Given the description of an element on the screen output the (x, y) to click on. 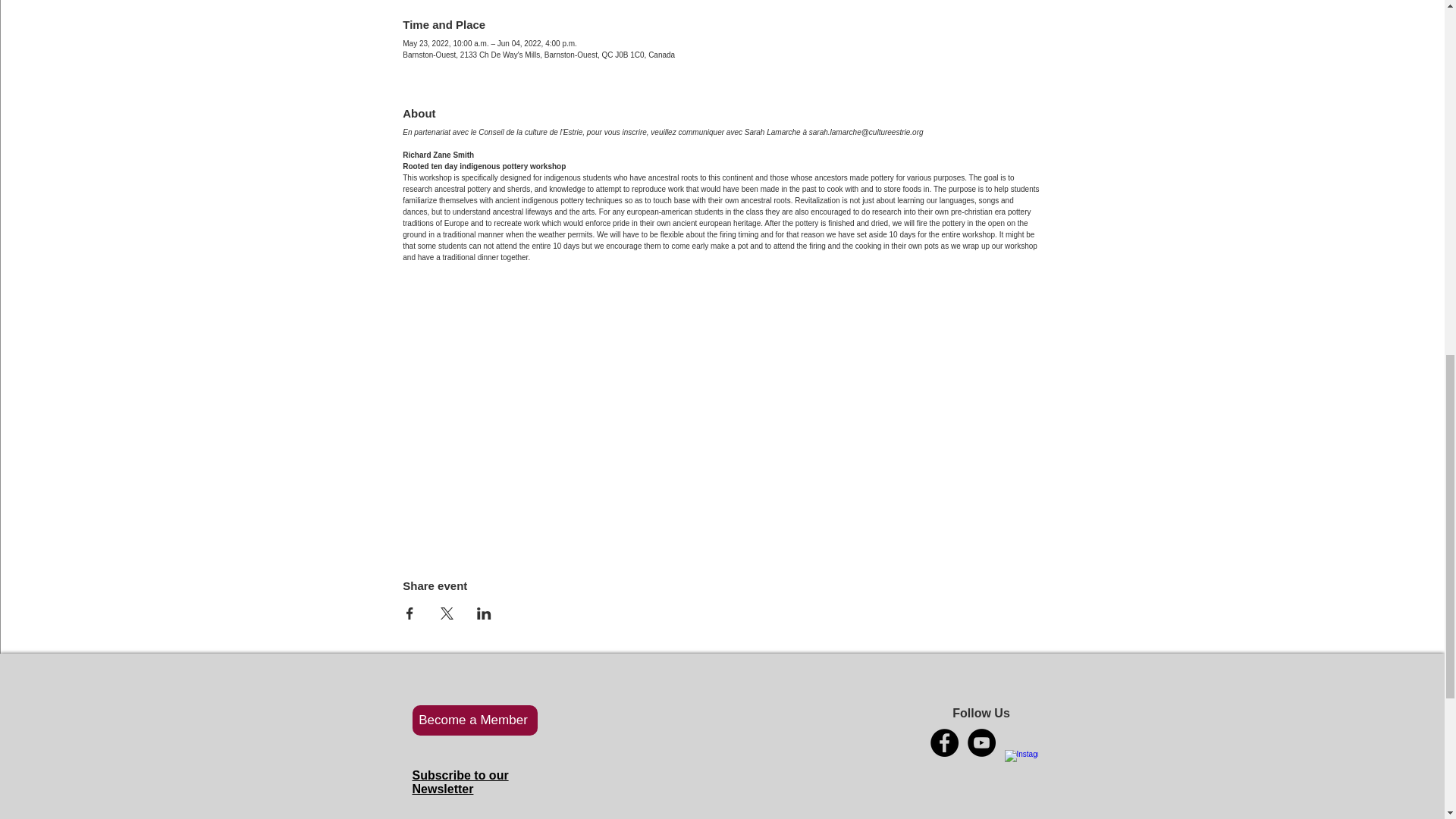
Become a Member (474, 720)
Subscribe to our Newsletter (460, 782)
